Given the description of an element on the screen output the (x, y) to click on. 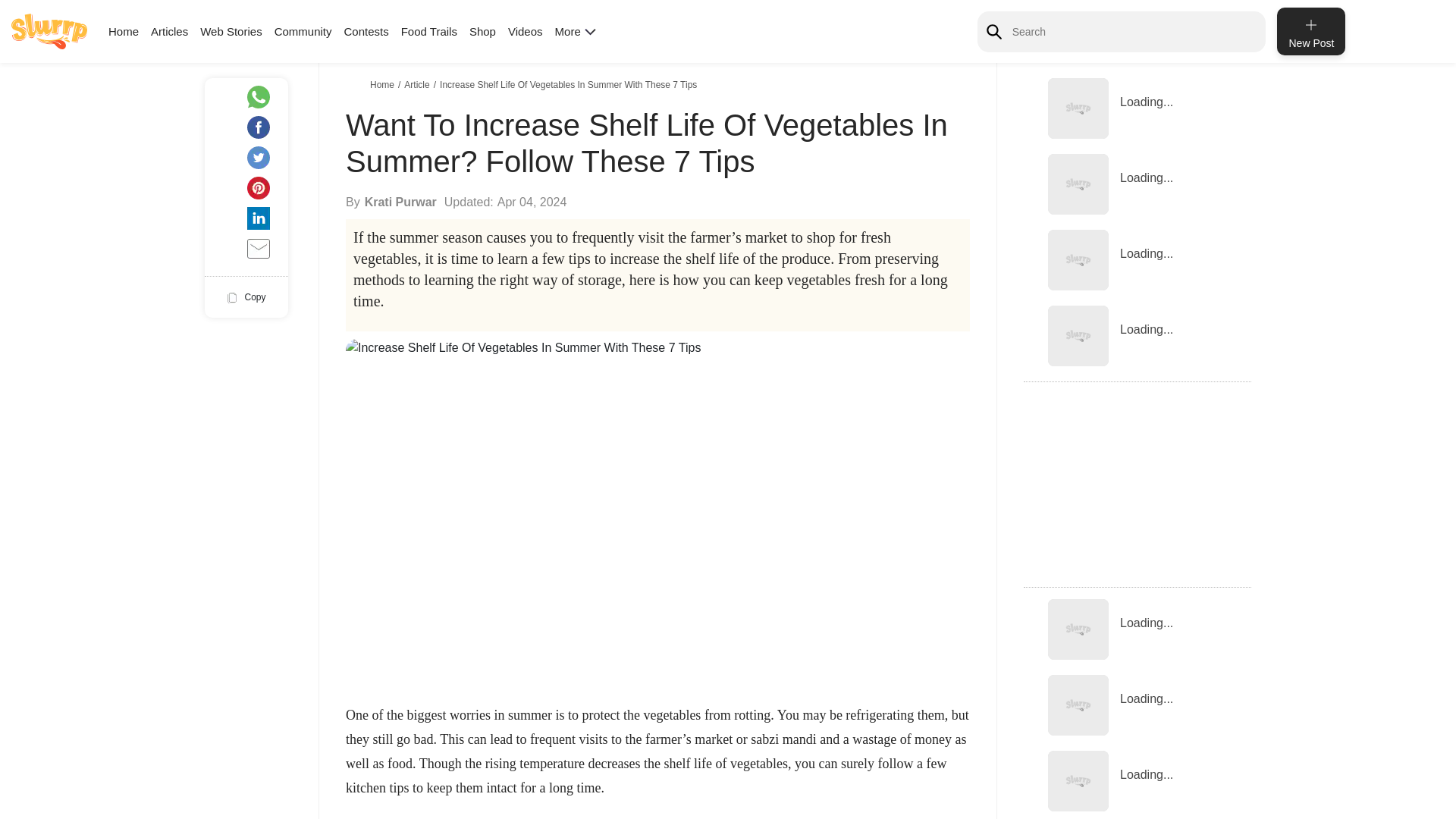
Articles (169, 31)
Article (418, 84)
Home (122, 31)
Contests (365, 31)
Home (383, 84)
New Post (1310, 31)
Shop (482, 31)
Community (303, 31)
Videos (525, 31)
Food Trails (429, 31)
Web Stories (231, 31)
